Given the description of an element on the screen output the (x, y) to click on. 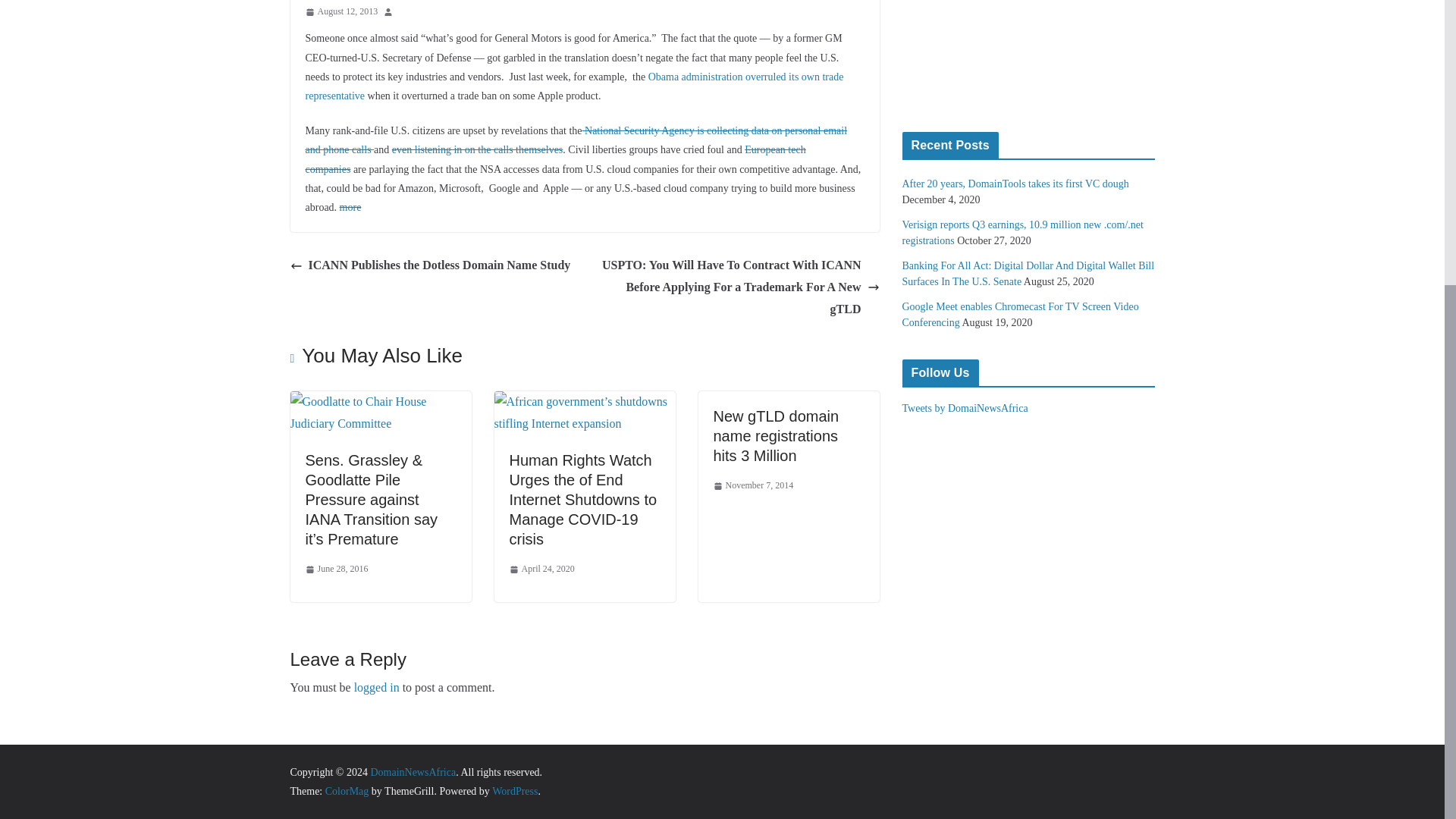
3:22 pm (340, 12)
Obama administration overruled its own trade representative (573, 86)
even listening in on the calls themselves (477, 149)
European tech companies (554, 159)
June 28, 2016 (336, 569)
ICANN Publishes the Dotless Domain Name Study (429, 265)
April 24, 2020 (542, 569)
August 12, 2013 (340, 12)
more (350, 206)
2:50 pm (336, 569)
